Given the description of an element on the screen output the (x, y) to click on. 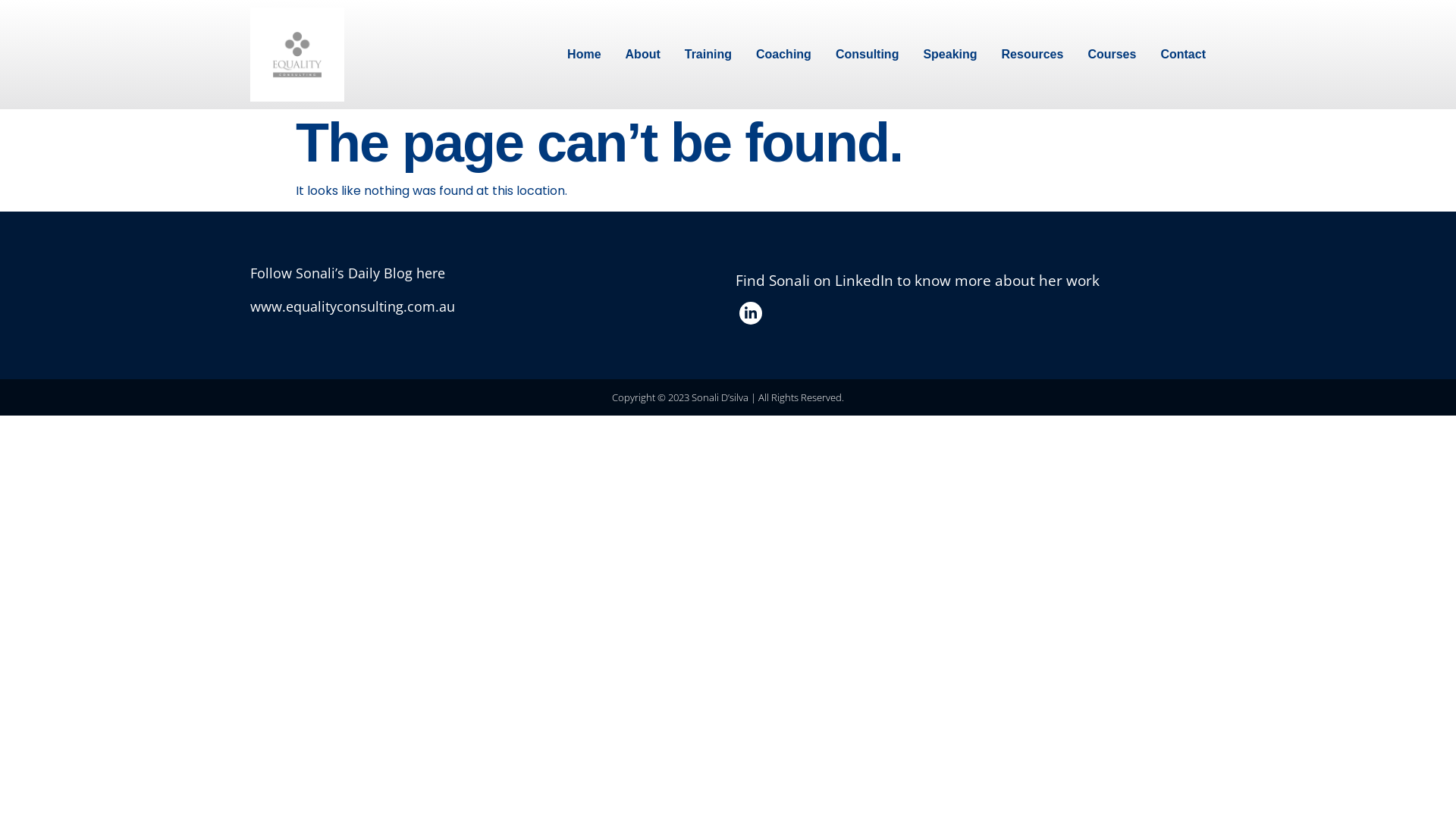
Resources Element type: text (1032, 54)
Home Element type: text (583, 54)
Coaching Element type: text (783, 54)
Consulting Element type: text (867, 54)
Contact Element type: text (1182, 54)
Training Element type: text (707, 54)
About Element type: text (642, 54)
Courses Element type: text (1111, 54)
Speaking Element type: text (949, 54)
www.equalityconsulting.com.au Element type: text (352, 306)
